Given the description of an element on the screen output the (x, y) to click on. 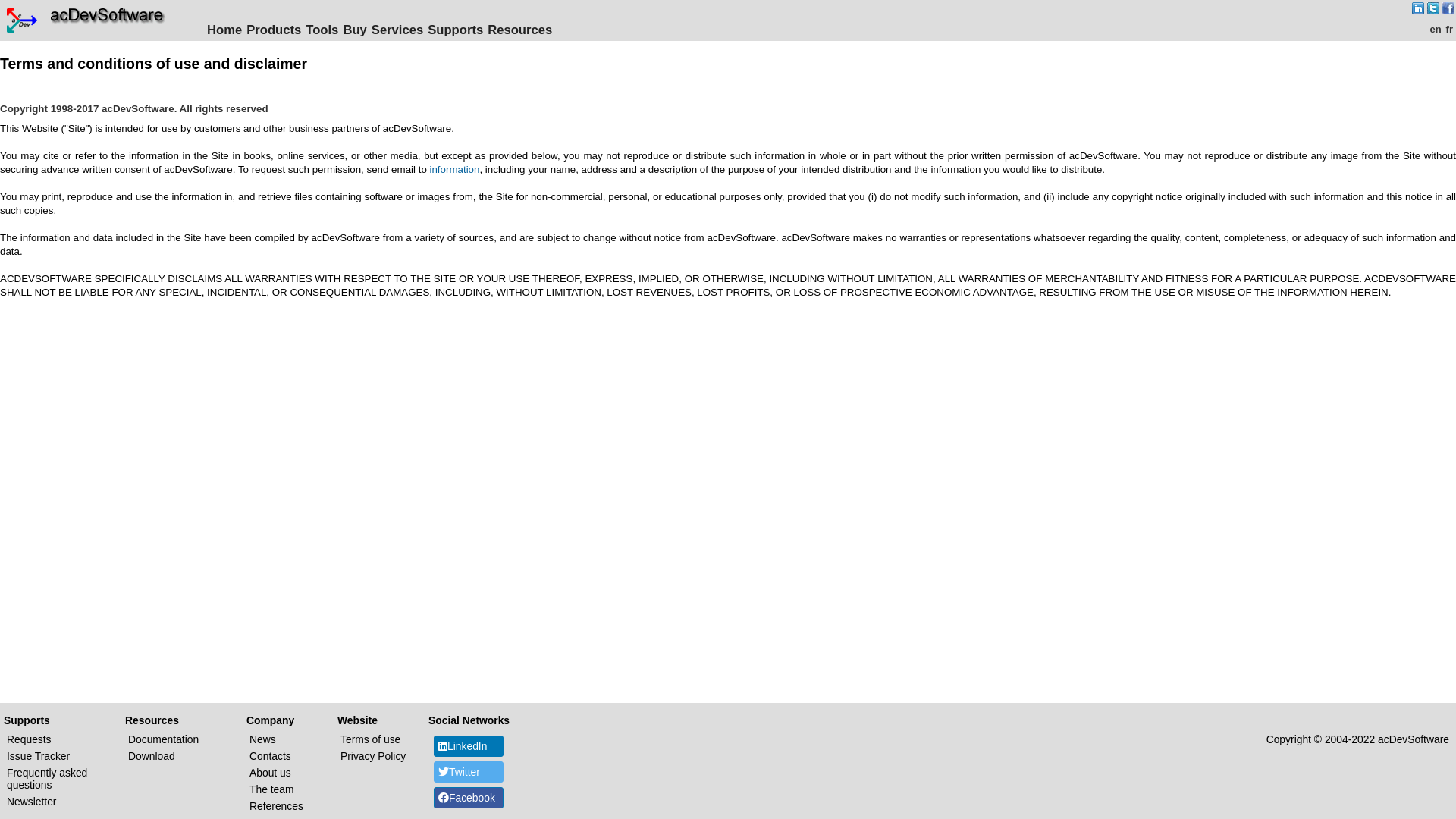
Resources Element type: text (519, 29)
Requests Element type: text (28, 739)
LinkedIn Element type: text (468, 746)
The team Element type: text (271, 789)
Issue Tracker Element type: text (37, 755)
Products Element type: text (273, 29)
Follow us on LinkedIn Element type: hover (1418, 8)
Privacy Policy Element type: text (372, 755)
Download Element type: text (151, 755)
News Element type: text (262, 739)
information Element type: text (454, 169)
fr Element type: text (1449, 28)
Facebook Element type: text (468, 797)
Home Element type: text (224, 29)
Follow us on LinkedIn Element type: hover (1418, 10)
Newsletter Element type: text (31, 801)
Frequently asked questions Element type: text (46, 778)
Documentation Element type: text (163, 739)
Terms of use Element type: text (370, 739)
Twitter Element type: text (468, 771)
Tools Element type: text (321, 29)
Follow us on Twitter Element type: hover (1433, 10)
About us Element type: text (270, 772)
Follow us on Twitter Element type: hover (1433, 8)
en Element type: text (1434, 28)
Supports Element type: text (455, 29)
Services Element type: text (397, 29)
Buy Element type: text (354, 29)
References Element type: text (276, 806)
Contacts Element type: text (270, 755)
Follow us on Facebook Element type: hover (1448, 10)
Follow us on Facebook Element type: hover (1448, 8)
